Given the description of an element on the screen output the (x, y) to click on. 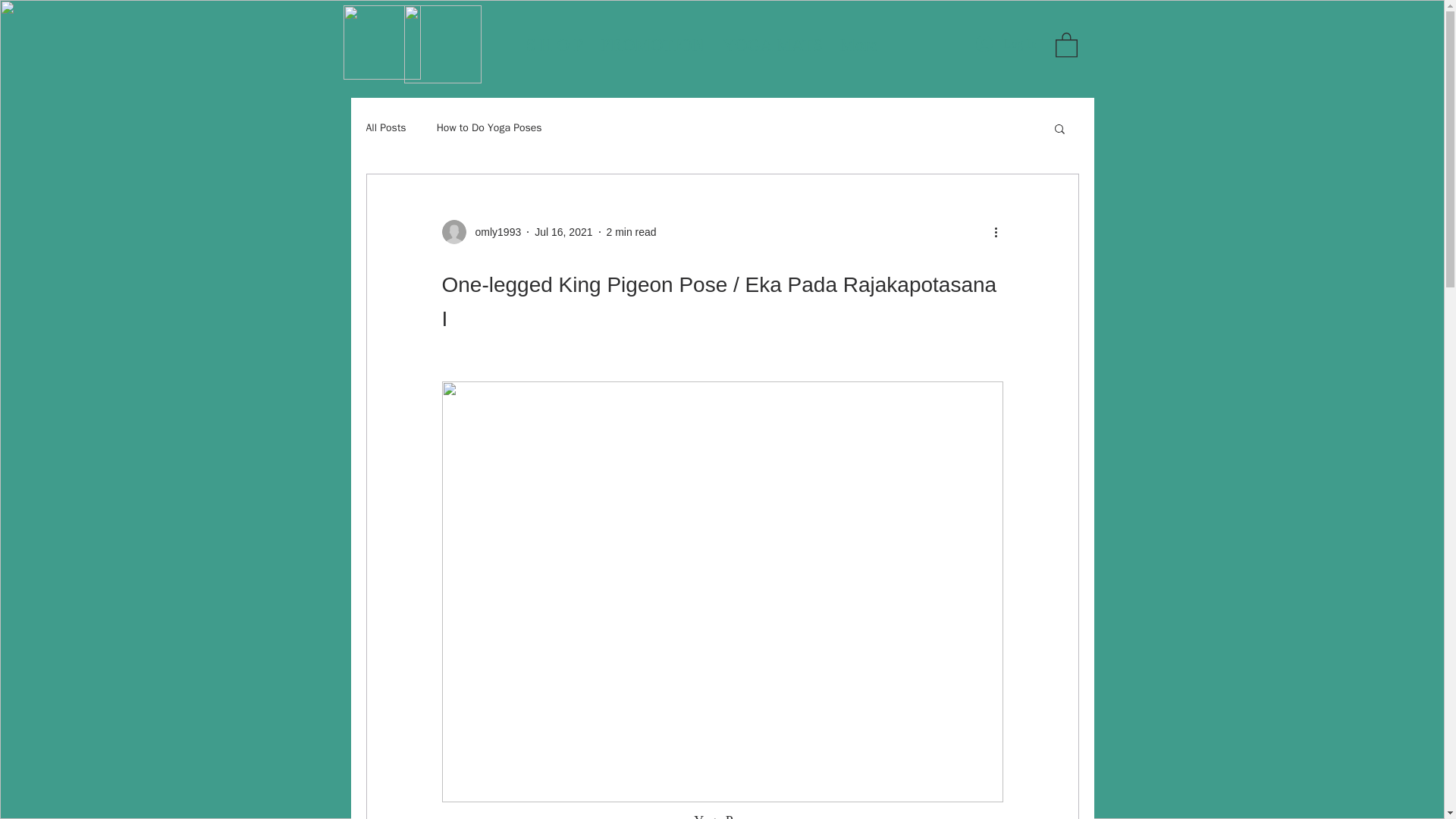
How to Do Yoga Poses (488, 128)
omly1993 (481, 232)
S H O P (554, 38)
Jul 16, 2021 (563, 232)
2 min read (631, 232)
omly1993 (493, 232)
Log In (1005, 43)
All Posts (385, 128)
